Given the description of an element on the screen output the (x, y) to click on. 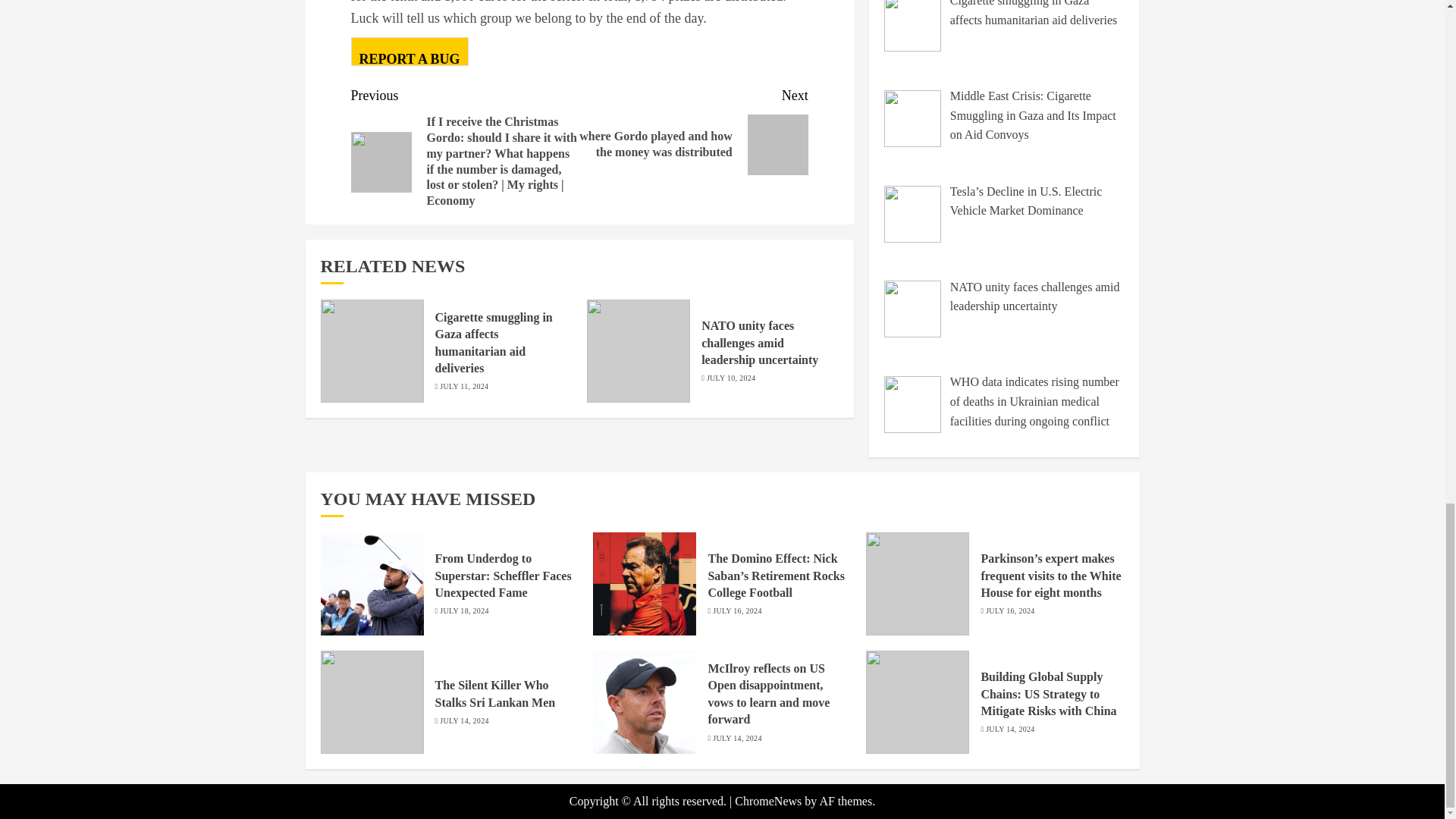
JULY 11, 2024 (463, 386)
REPORT A BUG (408, 51)
NATO unity faces challenges amid leadership uncertainty (759, 342)
JULY 10, 2024 (730, 378)
